Given the description of an element on the screen output the (x, y) to click on. 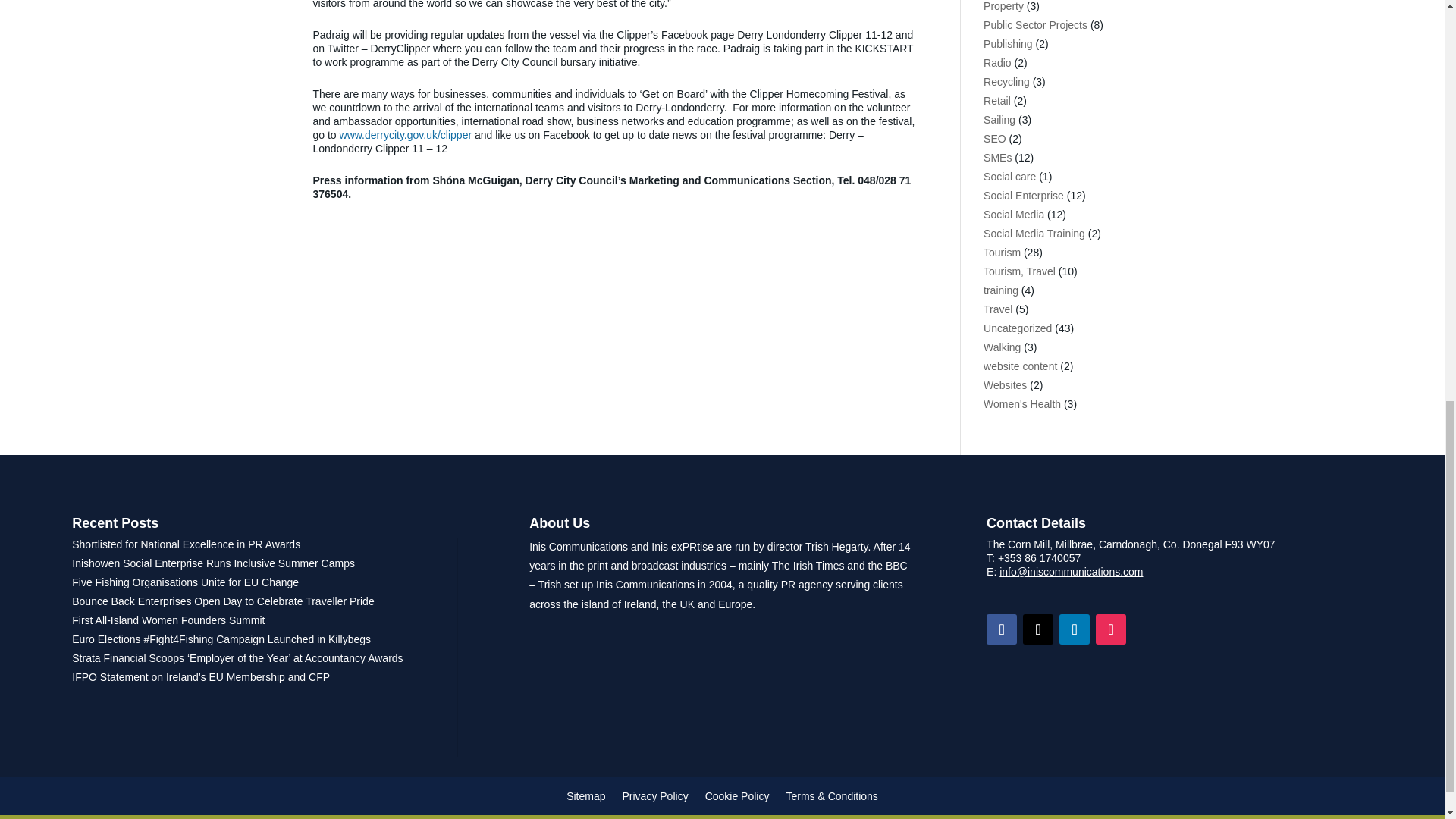
Follow on LinkedIn (1074, 629)
Follow on Instagram (1110, 629)
Follow on Facebook (1001, 629)
Follow on X (1037, 629)
